Given the description of an element on the screen output the (x, y) to click on. 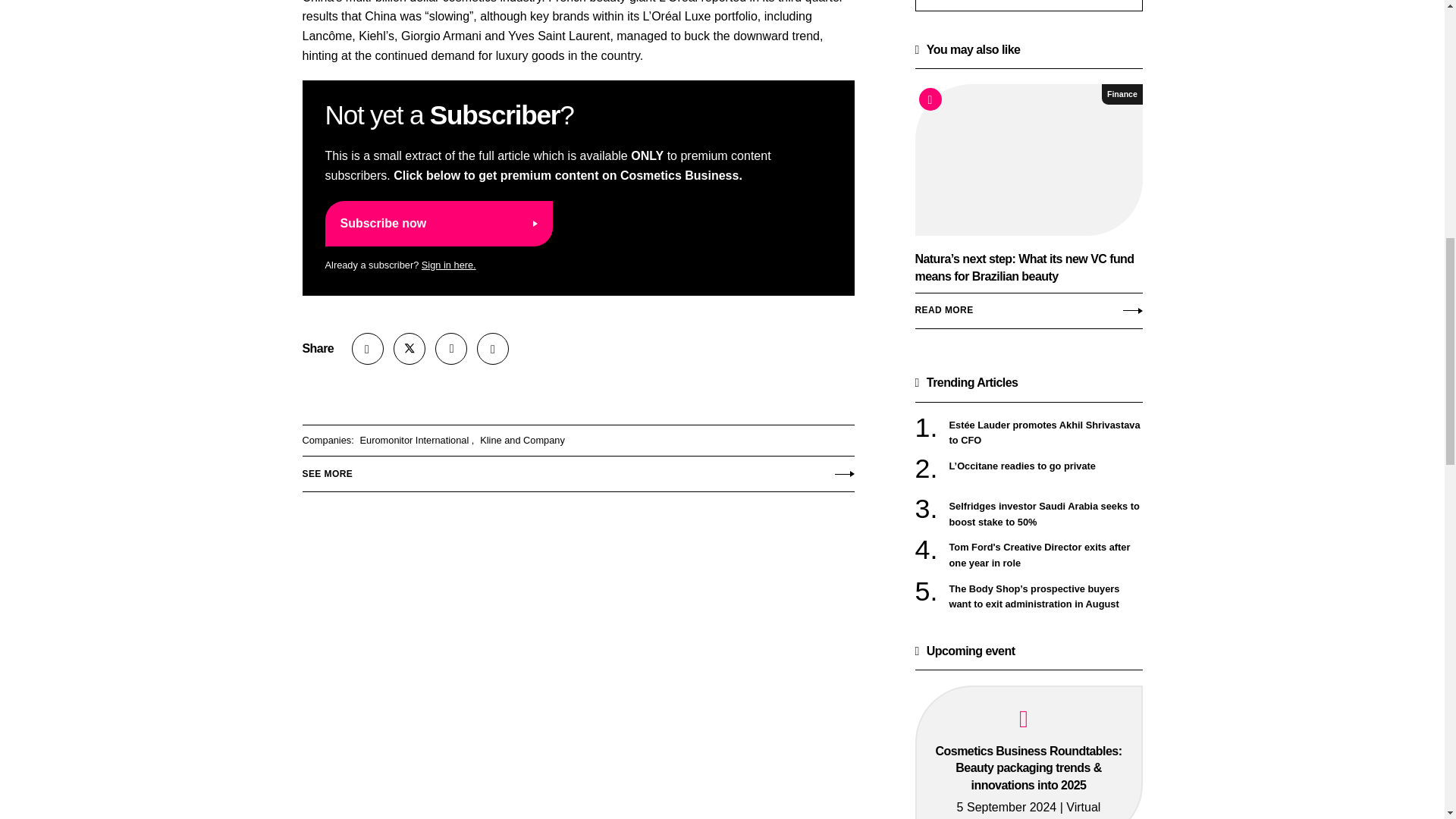
LinkedIn (451, 348)
Share (368, 348)
Share this article (368, 348)
Follow Cosmetics Business on X (409, 348)
X (409, 348)
Subscribe now (437, 223)
Sign in here. (449, 265)
